Given the description of an element on the screen output the (x, y) to click on. 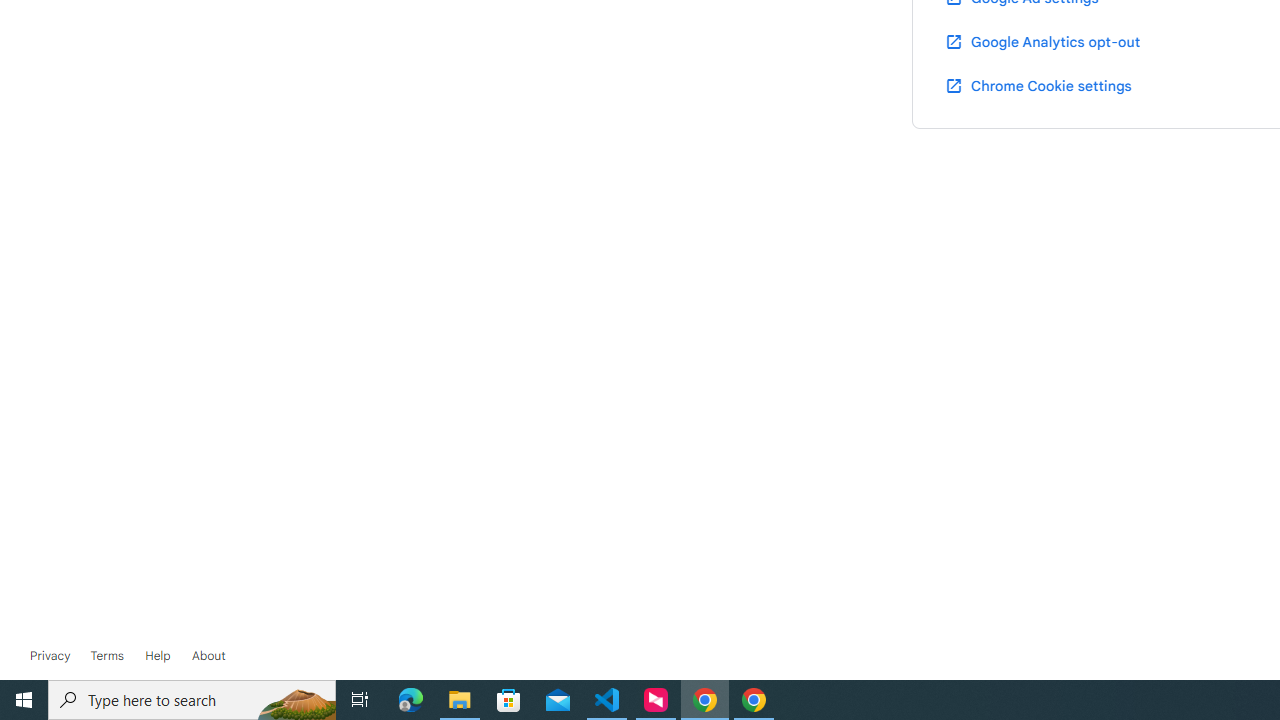
Learn more about Google Account (208, 655)
Google Analytics opt-out (1041, 41)
Chrome Cookie settings (1037, 85)
